Given the description of an element on the screen output the (x, y) to click on. 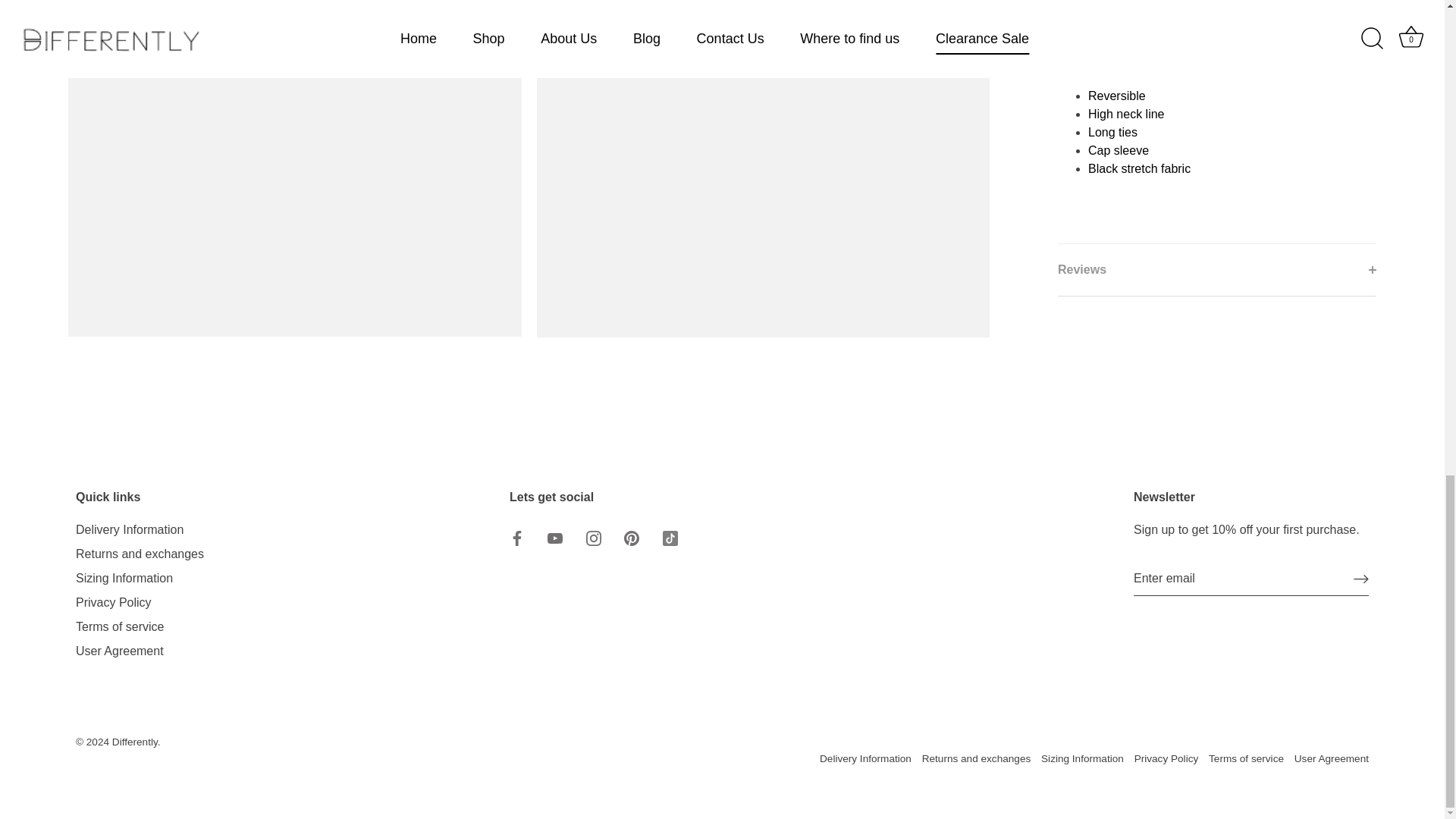
Instagram (593, 538)
Youtube (554, 538)
Right arrow long (1361, 579)
Pinterest (631, 538)
